Given the description of an element on the screen output the (x, y) to click on. 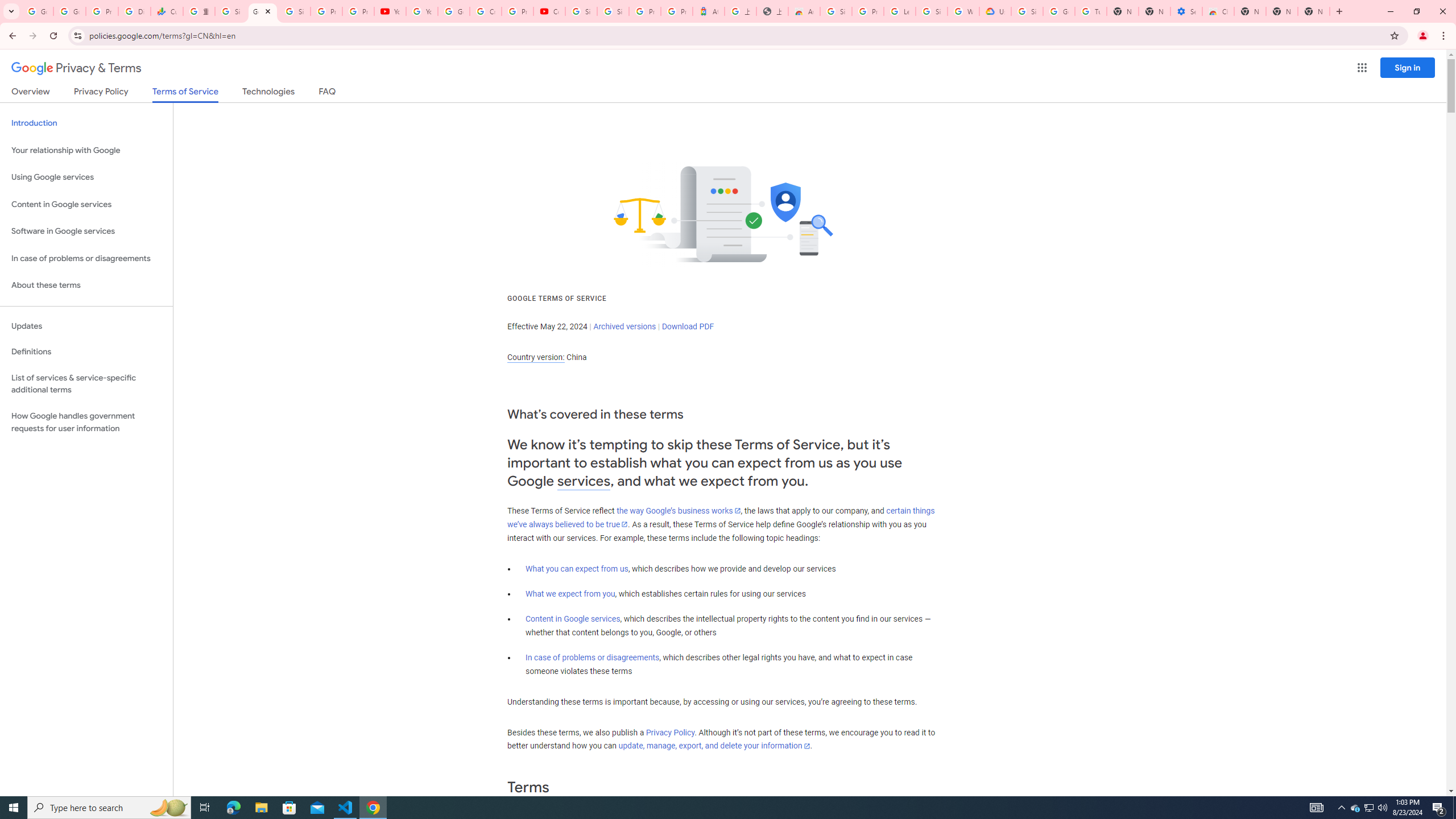
services (583, 480)
Privacy Checkup (358, 11)
Sign in - Google Accounts (294, 11)
New Tab (1249, 11)
Country version: (535, 357)
Software in Google services (86, 230)
